Given the description of an element on the screen output the (x, y) to click on. 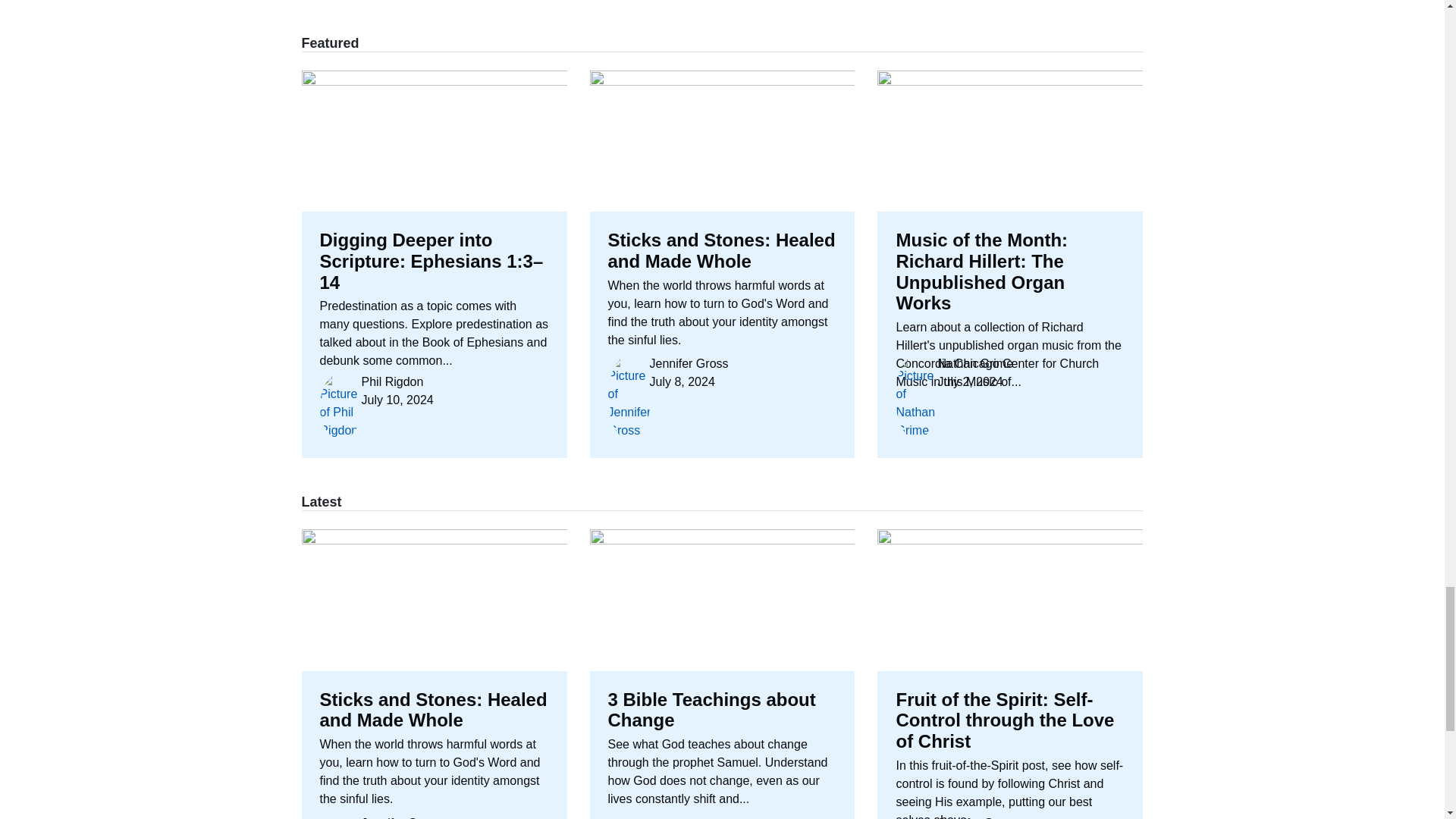
Sticks and Stones: Healed and Made Whole (434, 674)
Sticks and Stones: Healed and Made Whole (722, 264)
Fruit of the Spirit: Self-Control through the Love of Christ (1009, 674)
3 Bible Teachings about Change (722, 674)
